Given the description of an element on the screen output the (x, y) to click on. 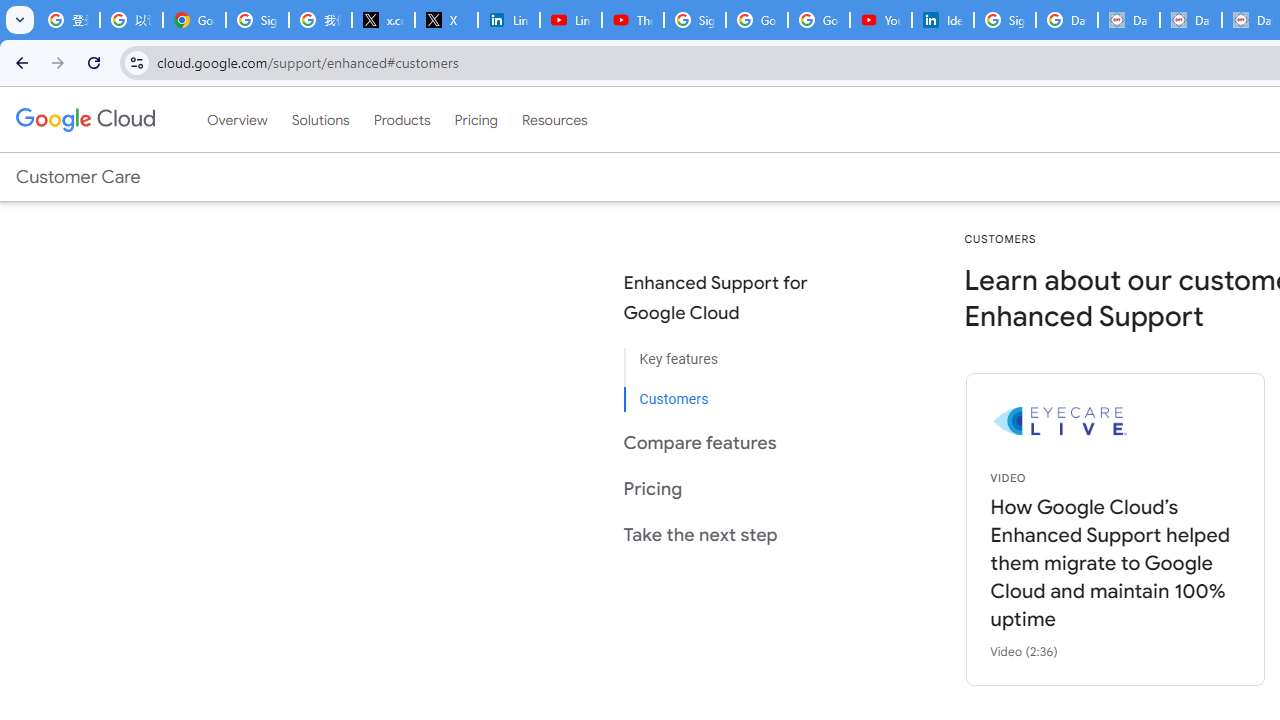
Compare features (732, 442)
Products (401, 119)
Data Privacy Framework (1128, 20)
Customers (732, 391)
LinkedIn Privacy Policy (508, 20)
Resources (553, 119)
